Given the description of an element on the screen output the (x, y) to click on. 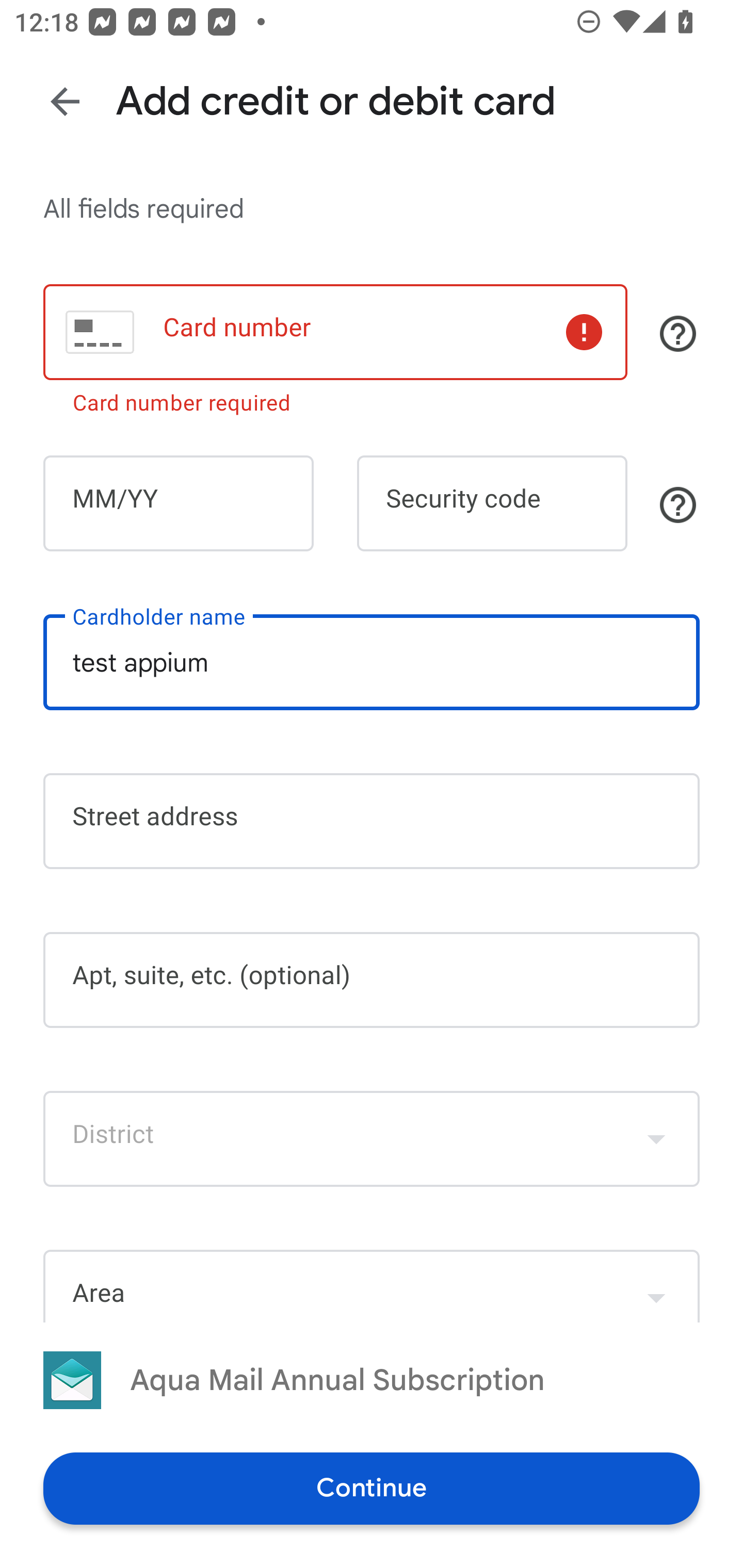
Back (64, 101)
Card number (335, 331)
Button, shows cards that are accepted for payment (677, 333)
Expiration date, 2 digit month, 2 digit year (178, 502)
Security code (492, 502)
Security code help (677, 504)
test appium (371, 662)
Street address (371, 820)
Apt, suite, etc. (optional) (371, 979)
District (371, 1138)
Show dropdown menu (655, 1139)
Area (371, 1285)
Show dropdown menu (655, 1287)
Continue (371, 1487)
